Given the description of an element on the screen output the (x, y) to click on. 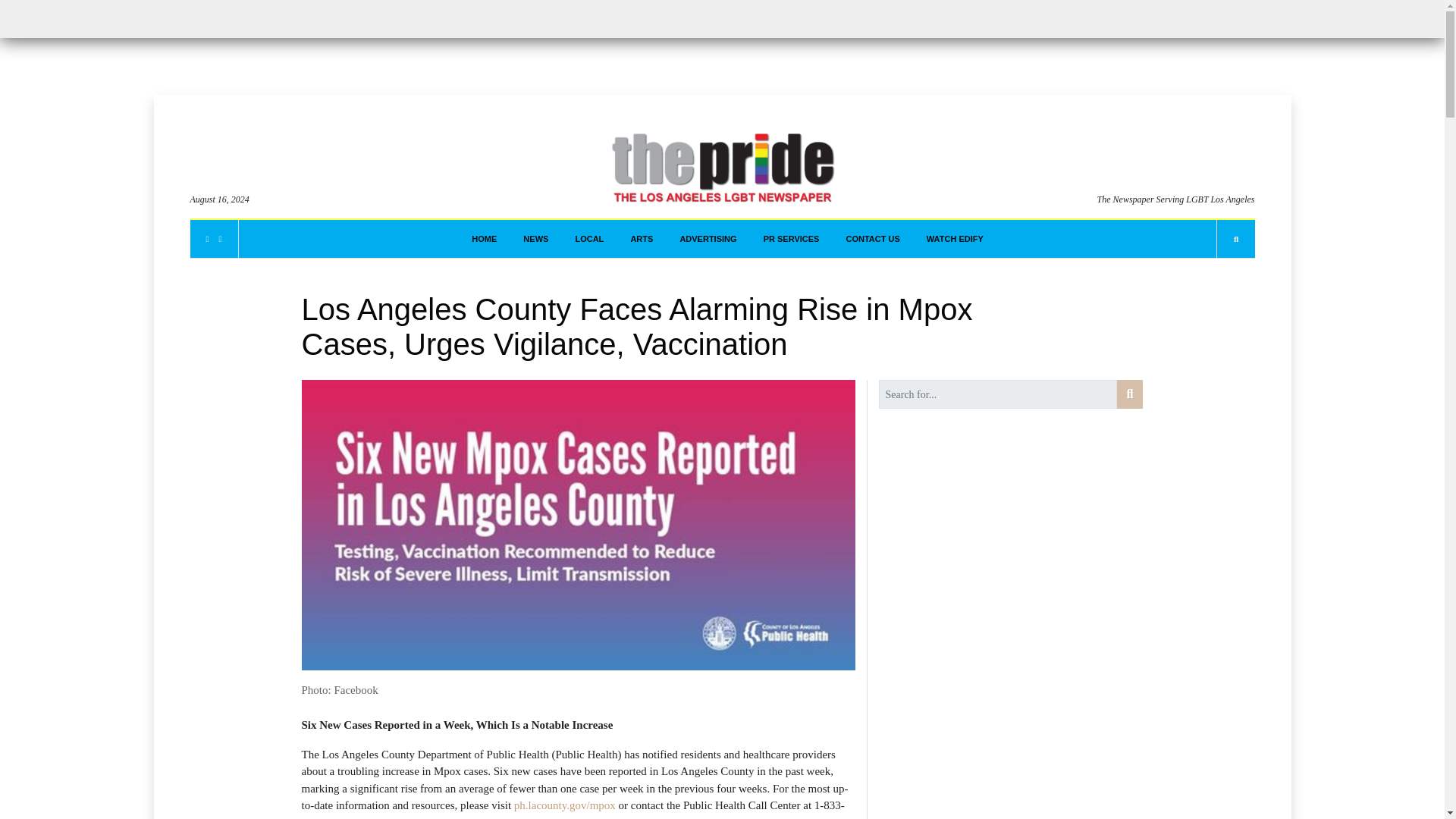
PR SERVICES (790, 238)
ADVERTISING (707, 238)
CONTACT US (872, 238)
WATCH EDIFY (955, 238)
